Given the description of an element on the screen output the (x, y) to click on. 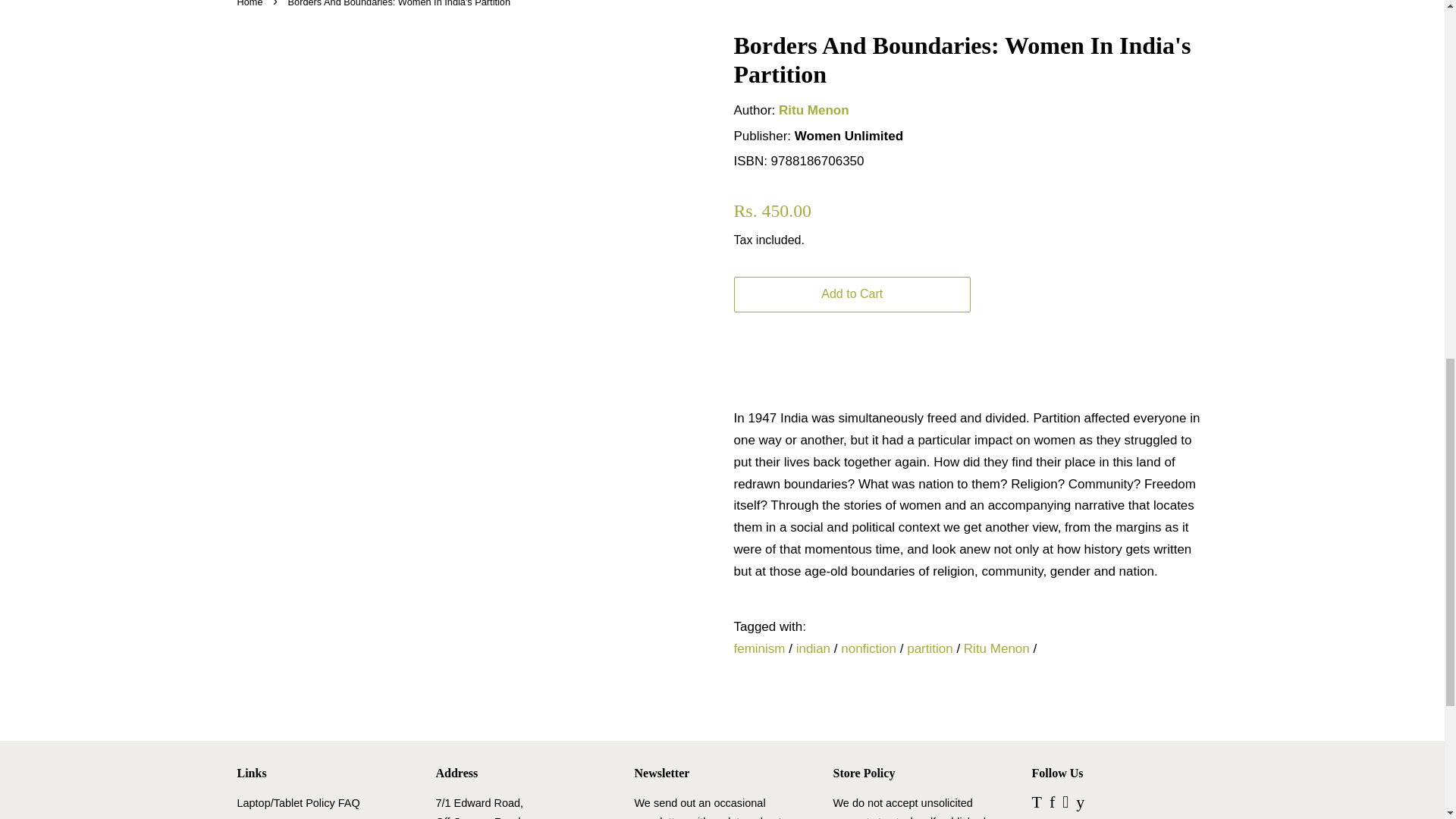
Back to the frontpage (250, 3)
